Given the description of an element on the screen output the (x, y) to click on. 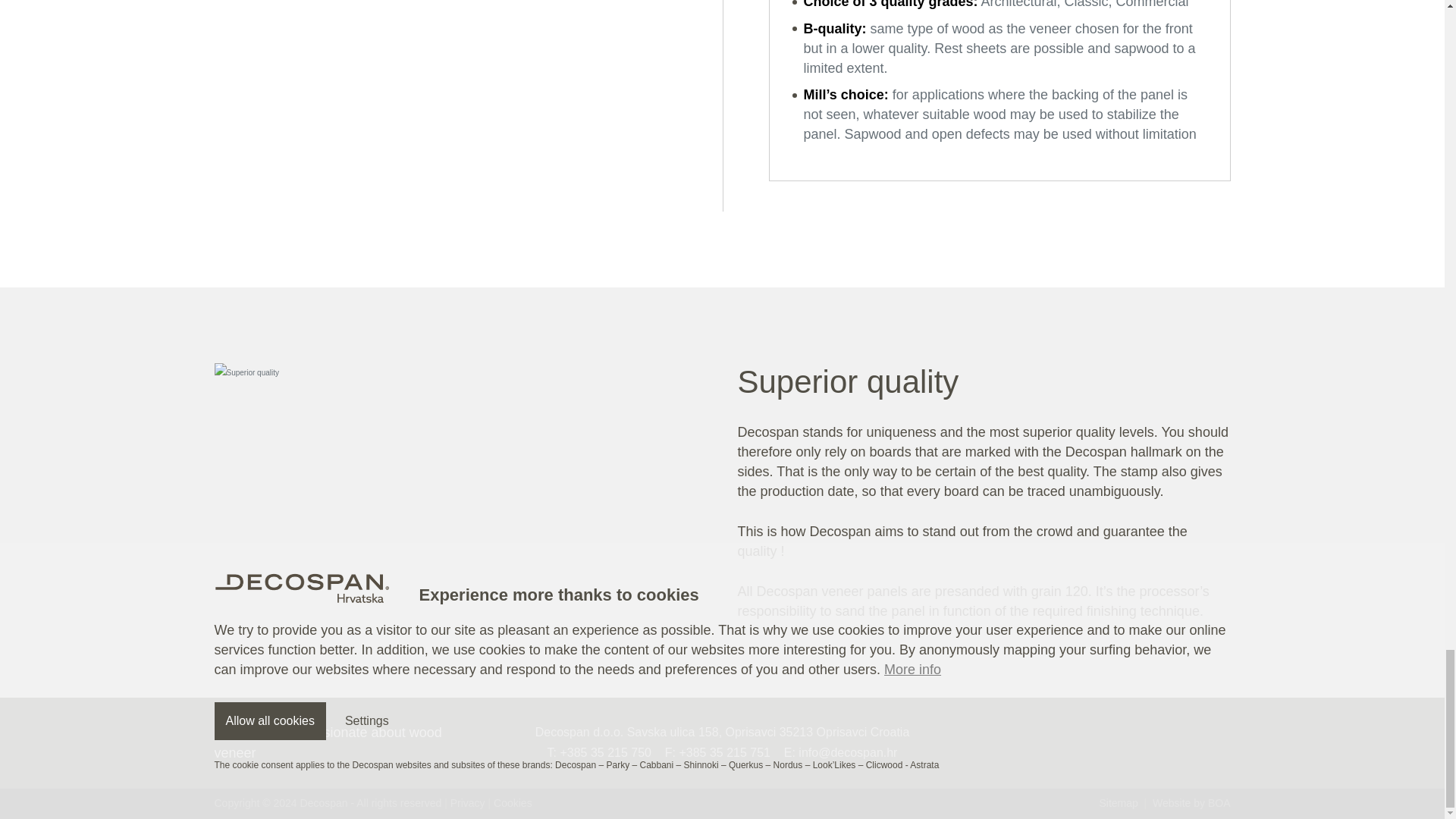
Webdesign by BOA (1191, 802)
Sitemap (1118, 802)
